Given the description of an element on the screen output the (x, y) to click on. 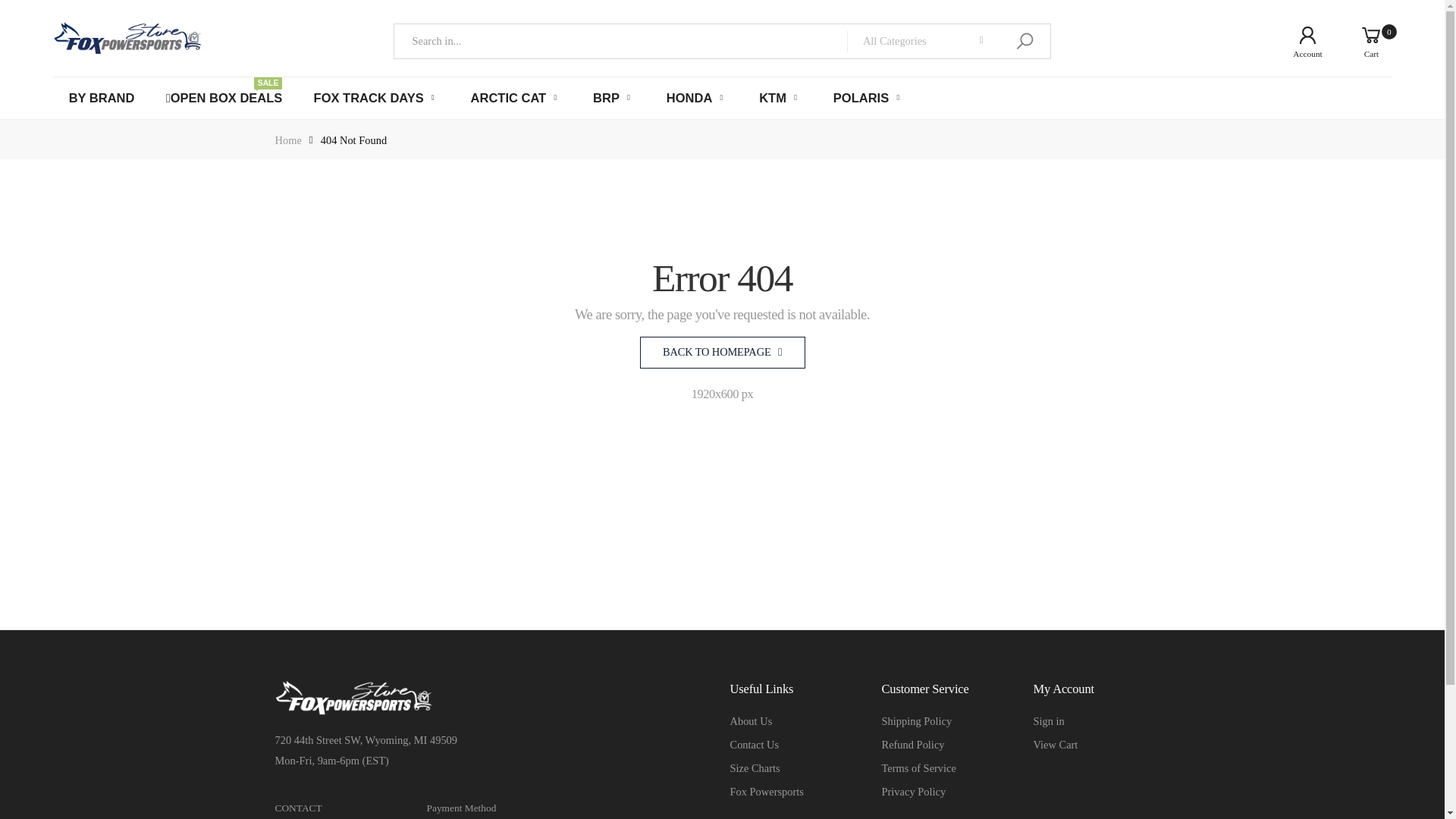
Account (1295, 41)
KTM (780, 97)
Home (288, 139)
HONDA (697, 97)
BACK TO HOMEPAGE (722, 351)
Home (288, 139)
Refund Policy (911, 744)
POLARIS (868, 97)
BY BRAND (101, 97)
Shipping Policy (223, 97)
BRP (916, 720)
Privacy Policy (613, 97)
Sign in (912, 791)
Fox Powersports (1048, 720)
